Given the description of an element on the screen output the (x, y) to click on. 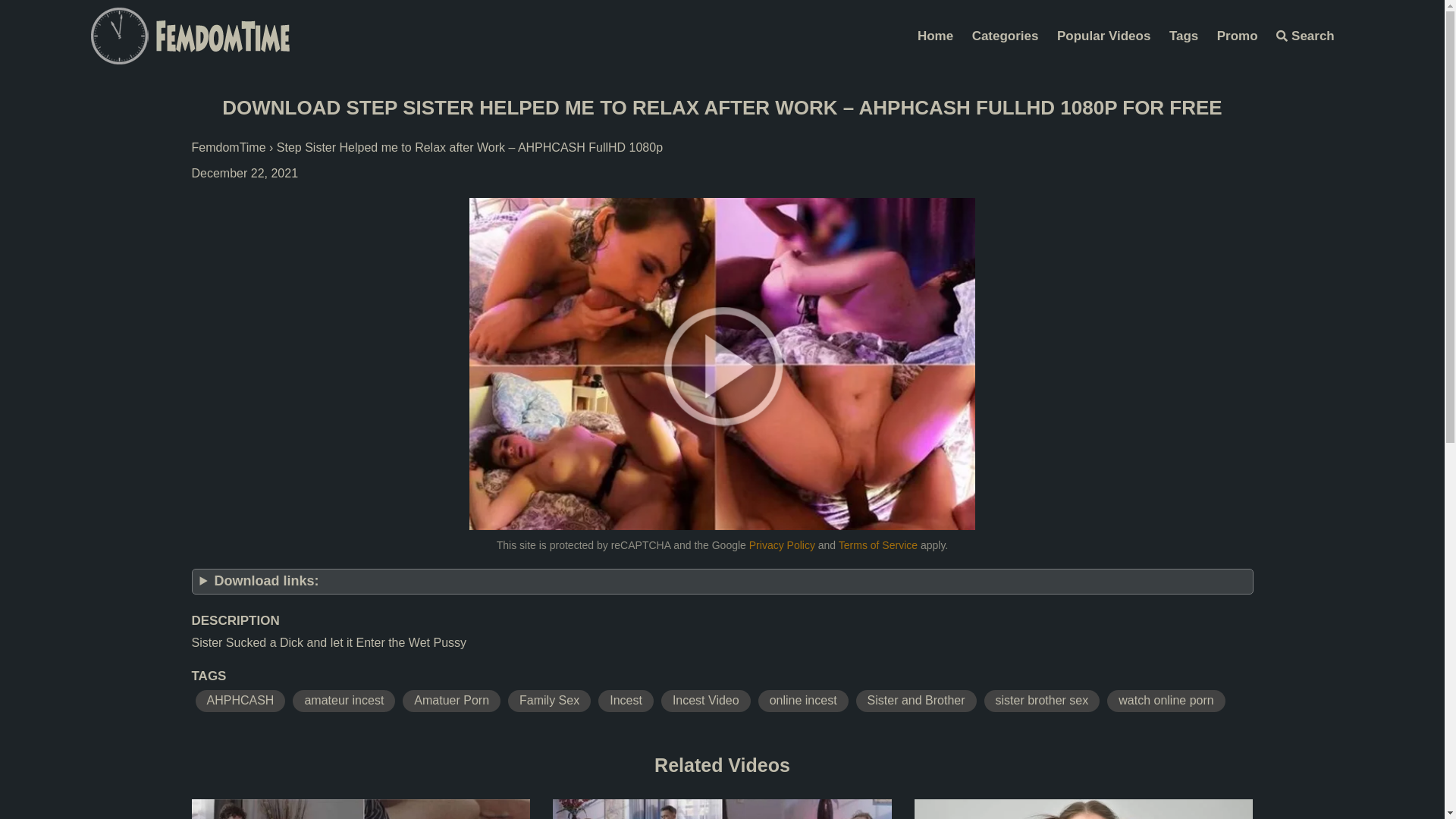
Categories Element type: text (1005, 35)
Terms of Service Element type: text (877, 545)
Family Sex Element type: text (549, 701)
Tags Element type: text (1183, 35)
Privacy Policy Element type: text (782, 545)
Popular Videos Element type: text (1103, 35)
AHPHCASH Element type: text (240, 701)
Search Element type: text (1305, 35)
Promo Element type: text (1237, 35)
amateur incest Element type: text (343, 701)
Amatuer Porn Element type: text (451, 701)
watch online porn Element type: text (1165, 701)
Home Element type: text (935, 35)
Incest Element type: text (625, 701)
sister brother sex Element type: text (1042, 701)
FemdomTime Element type: text (228, 147)
Incest Video Element type: text (705, 701)
Sister and Brother Element type: text (916, 701)
online incest Element type: text (803, 701)
